Given the description of an element on the screen output the (x, y) to click on. 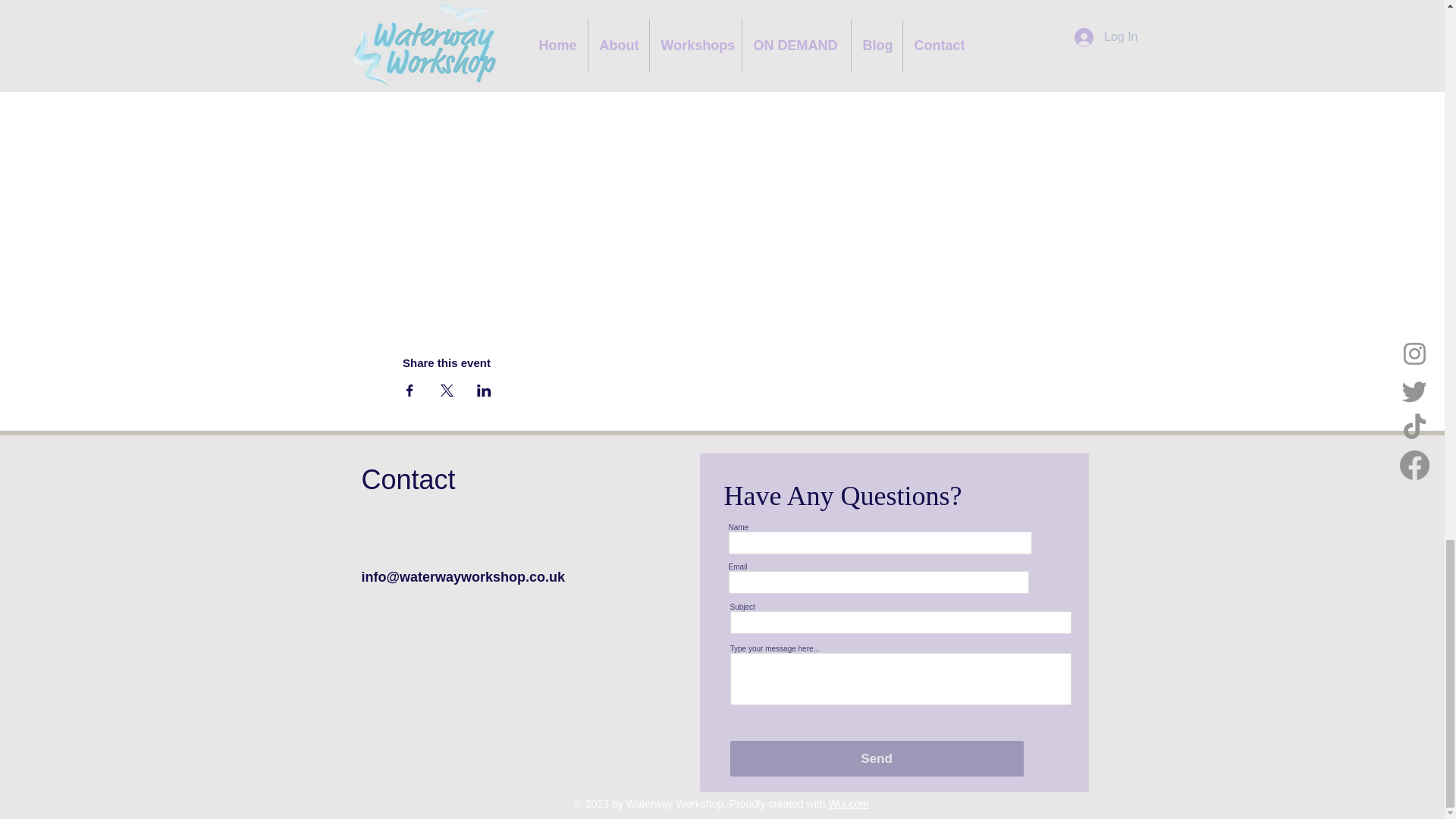
Wix.com (848, 803)
Checkout (914, 5)
Send (876, 758)
